Given the description of an element on the screen output the (x, y) to click on. 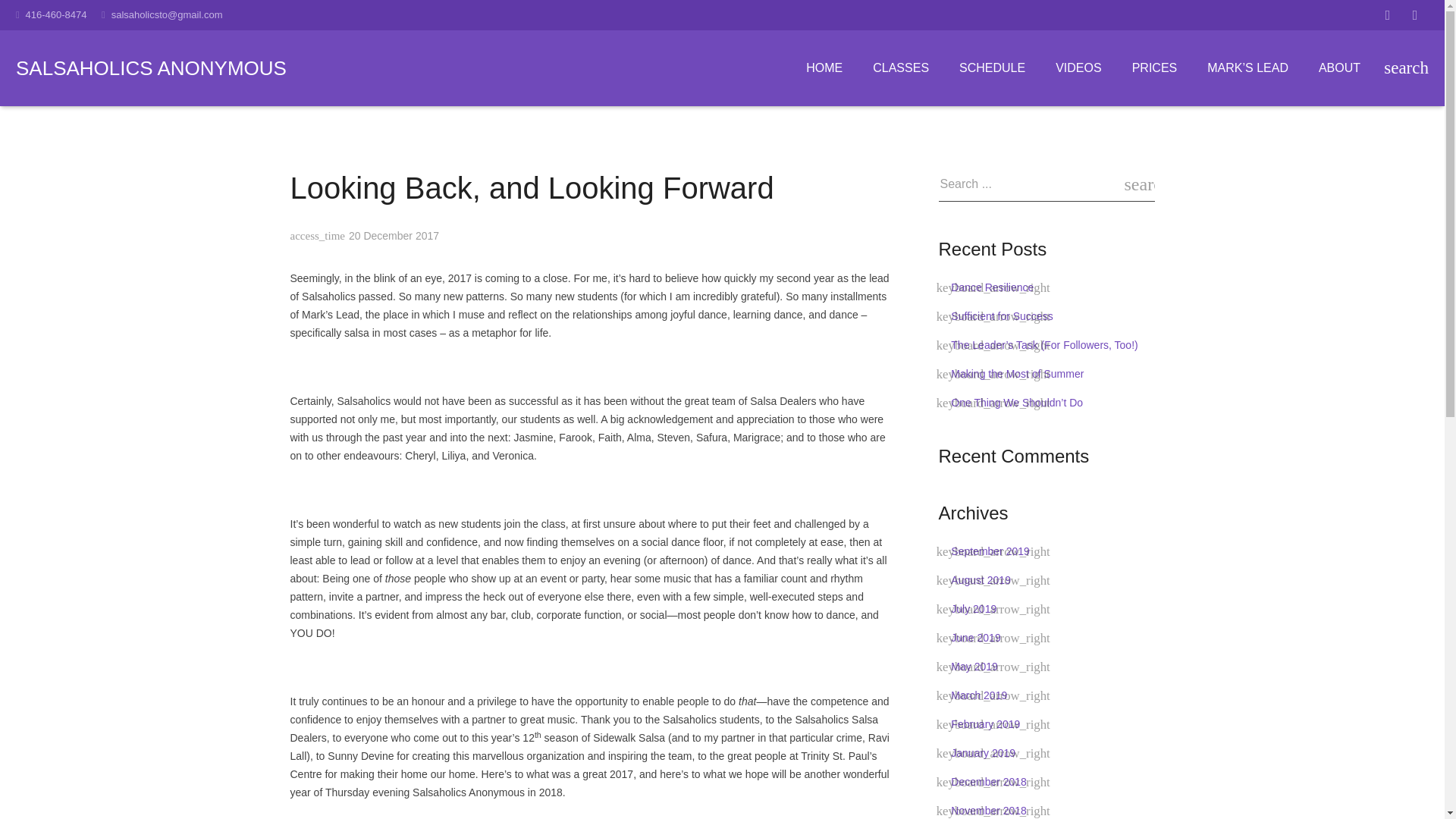
ABOUT (1339, 67)
August 2019 (980, 580)
HOME (823, 67)
January 2019 (982, 752)
VIDEOS (1078, 67)
November 2018 (988, 810)
June 2019 (975, 637)
Sufficient for Success (1001, 316)
SALSAHOLICS ANONYMOUS (151, 67)
SCHEDULE (992, 67)
